Given the description of an element on the screen output the (x, y) to click on. 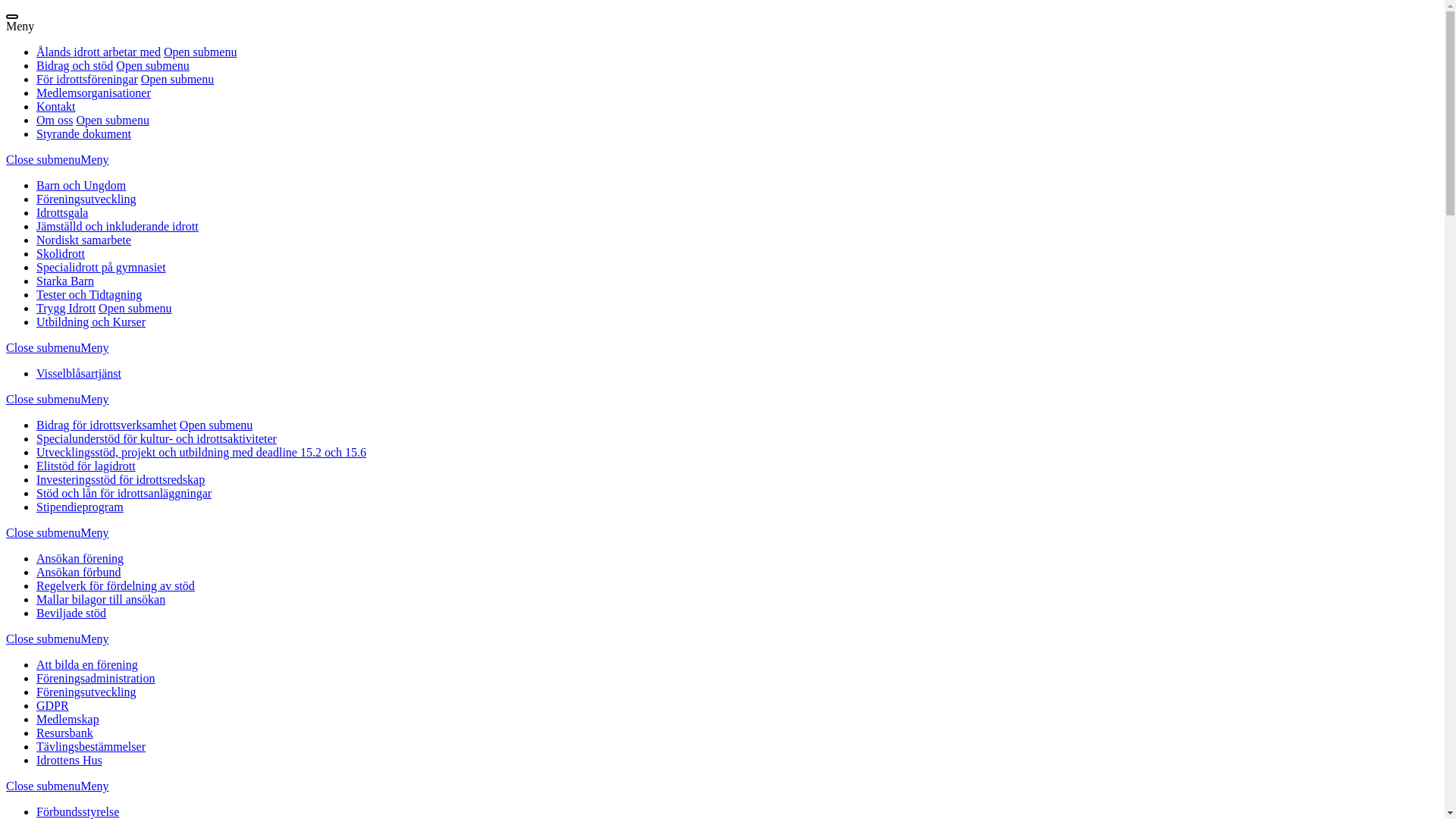
Close submenu Element type: text (43, 347)
Meny Element type: text (94, 398)
Stipendieprogram Element type: text (79, 506)
Open submenu Element type: text (199, 51)
Styrande dokument Element type: text (83, 133)
Om oss Element type: text (54, 119)
Open submenu Element type: text (177, 78)
Resursbank Element type: text (64, 732)
Starka Barn Element type: text (65, 280)
Close submenu Element type: text (43, 638)
Open submenu Element type: text (215, 424)
Medlemskap Element type: text (67, 718)
Idrottsgala Element type: text (61, 212)
Kontakt Element type: text (55, 106)
Meny Element type: text (94, 159)
Barn och Ungdom Element type: text (80, 184)
Meny Element type: text (20, 25)
Close submenu Element type: text (43, 398)
Open submenu Element type: text (134, 307)
Meny Element type: text (94, 638)
Meny Element type: text (94, 347)
Close submenu Element type: text (43, 532)
Idrottens Hus Element type: text (69, 759)
Tester och Tidtagning Element type: text (88, 294)
Close submenu Element type: text (43, 785)
Close submenu Element type: text (43, 159)
Open submenu Element type: text (152, 65)
Trygg Idrott Element type: text (65, 307)
Open submenu Element type: text (111, 119)
Meny Element type: text (94, 785)
Nordiskt samarbete Element type: text (83, 239)
Medlemsorganisationer Element type: text (93, 92)
Meny Element type: text (94, 532)
GDPR Element type: text (52, 705)
Utbildning och Kurser Element type: text (90, 321)
Skolidrott Element type: text (60, 253)
